Given the description of an element on the screen output the (x, y) to click on. 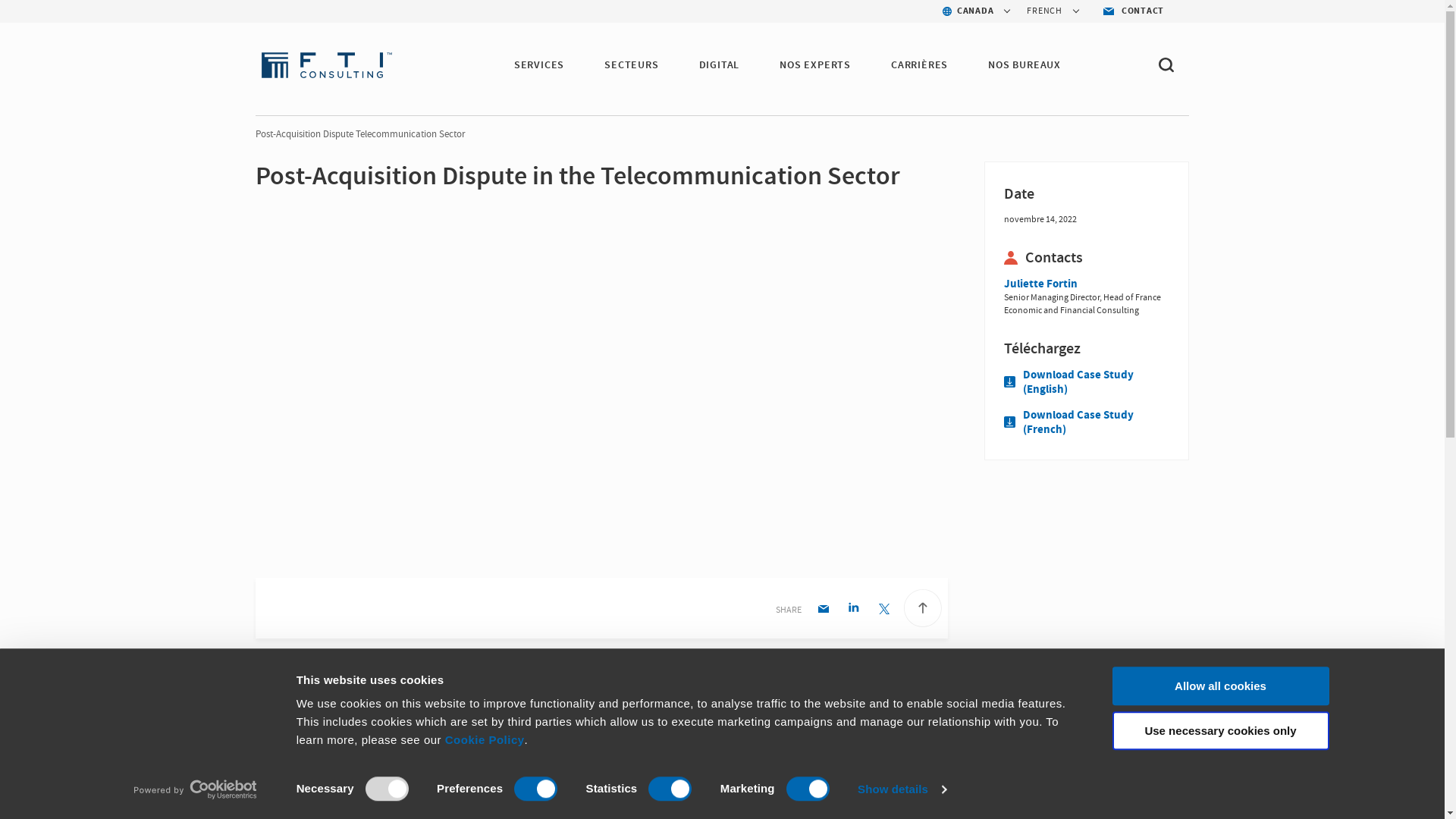
Show details (900, 789)
Cookie Policy (484, 739)
